Given the description of an element on the screen output the (x, y) to click on. 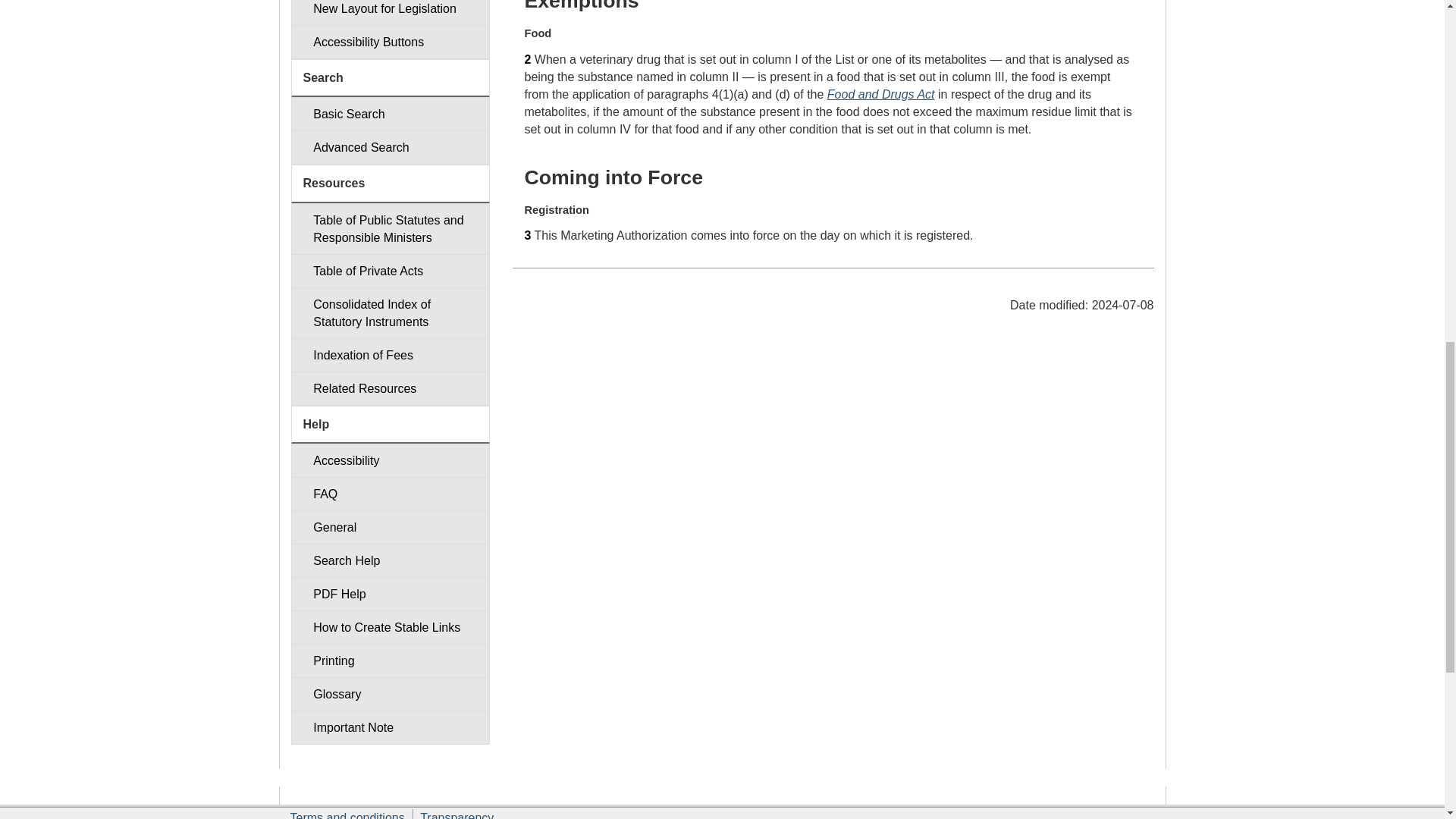
Related Resources (390, 388)
Printing Help (390, 660)
Frequently Asked Questions (390, 493)
General Help (390, 527)
Food and Drugs Act (880, 93)
Accessibility Help (390, 460)
Search - Justice Laws Website (390, 114)
Advanced Search - Justice Laws Website (390, 147)
